Given the description of an element on the screen output the (x, y) to click on. 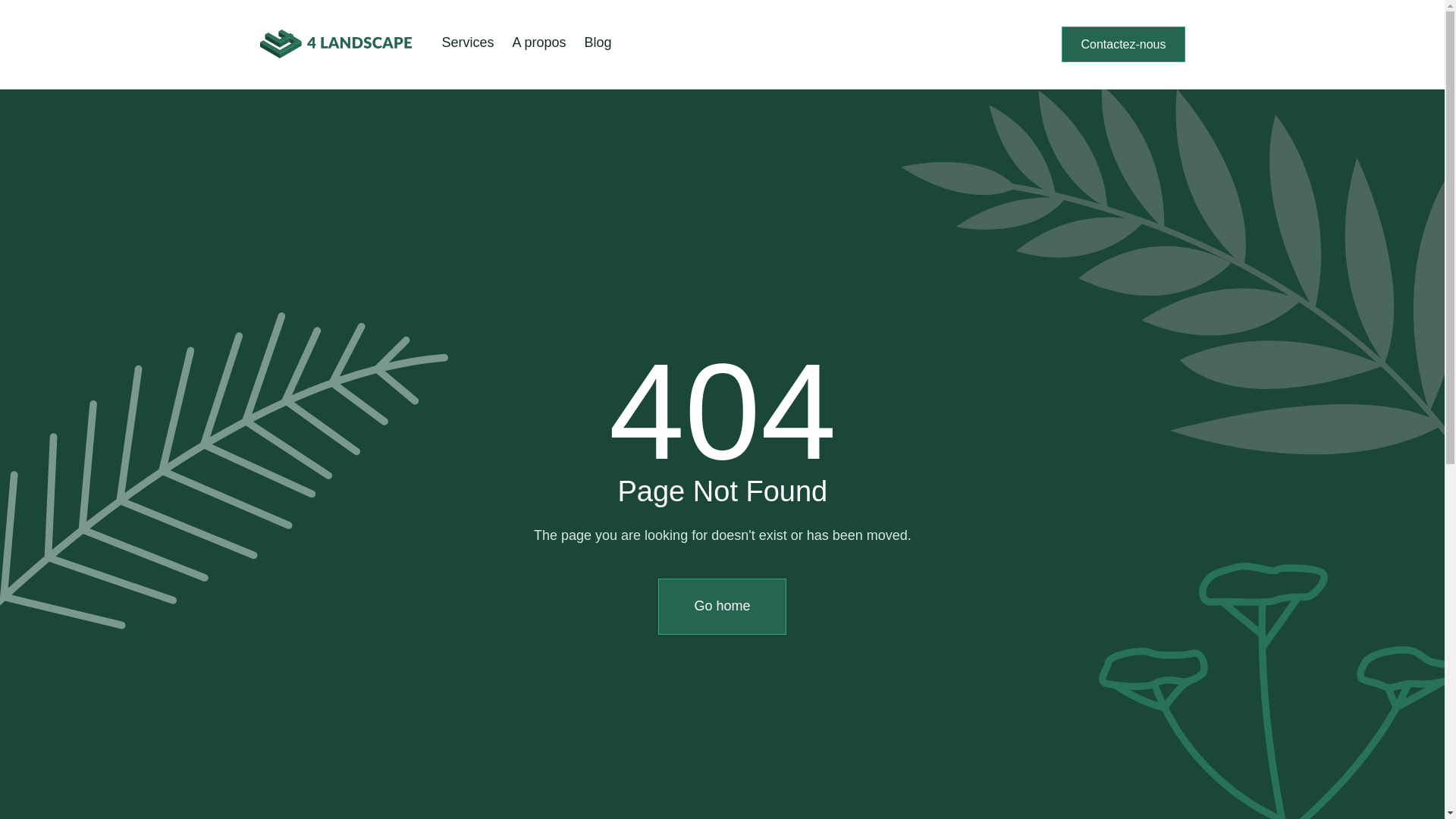
Contactez-nous Element type: text (1122, 44)
A propos Element type: text (539, 42)
Services Element type: text (467, 42)
Go home Element type: text (721, 606)
Blog Element type: text (597, 42)
